Given the description of an element on the screen output the (x, y) to click on. 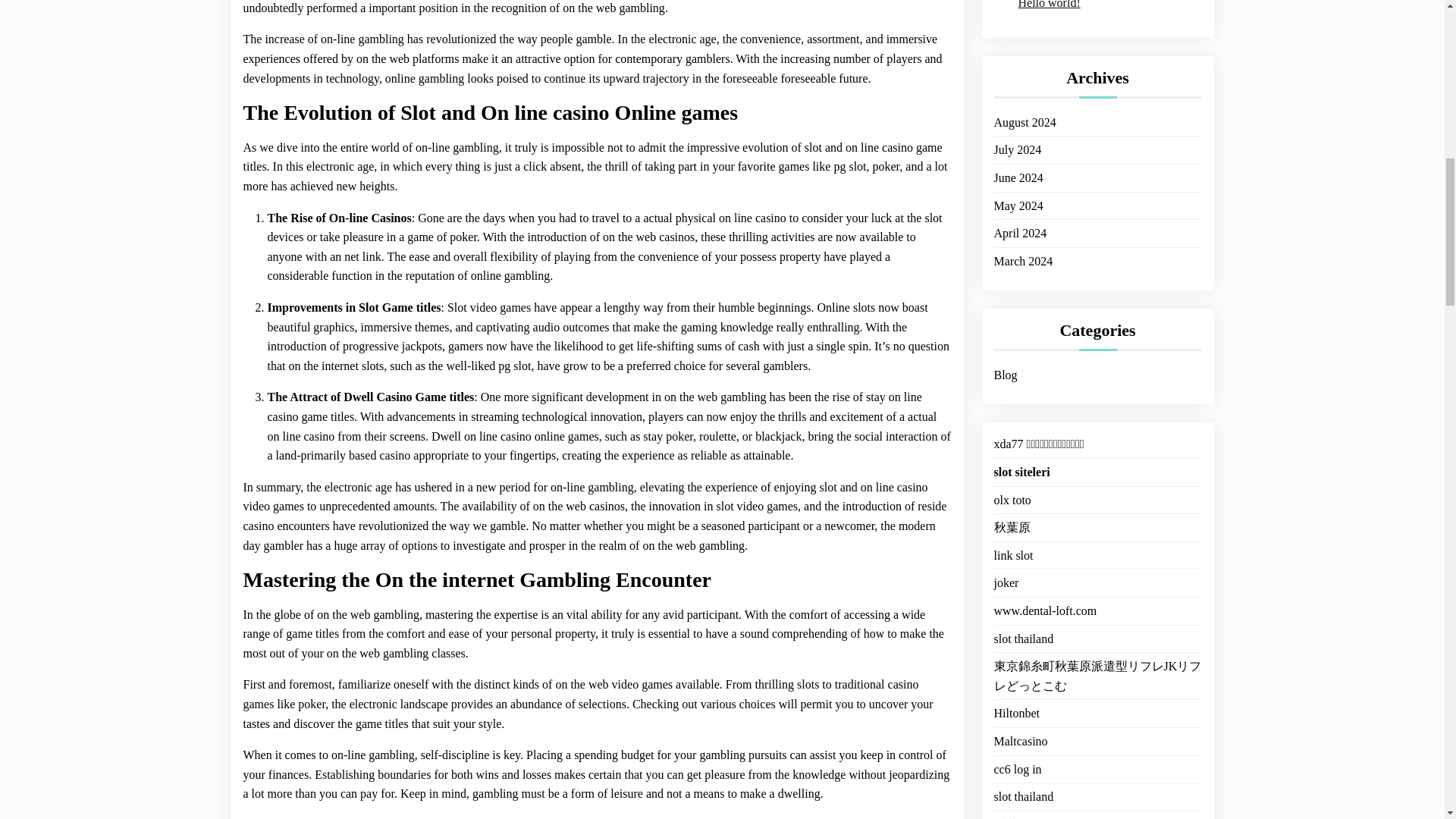
August 2024 (1023, 104)
www.dental-loft.com (1044, 592)
joker (1004, 564)
March 2024 (1022, 243)
Blog (1004, 356)
April 2024 (1019, 215)
July 2024 (1016, 131)
slot thailand (1022, 620)
Hiltonbet (1015, 695)
olx toto (1011, 482)
